Given the description of an element on the screen output the (x, y) to click on. 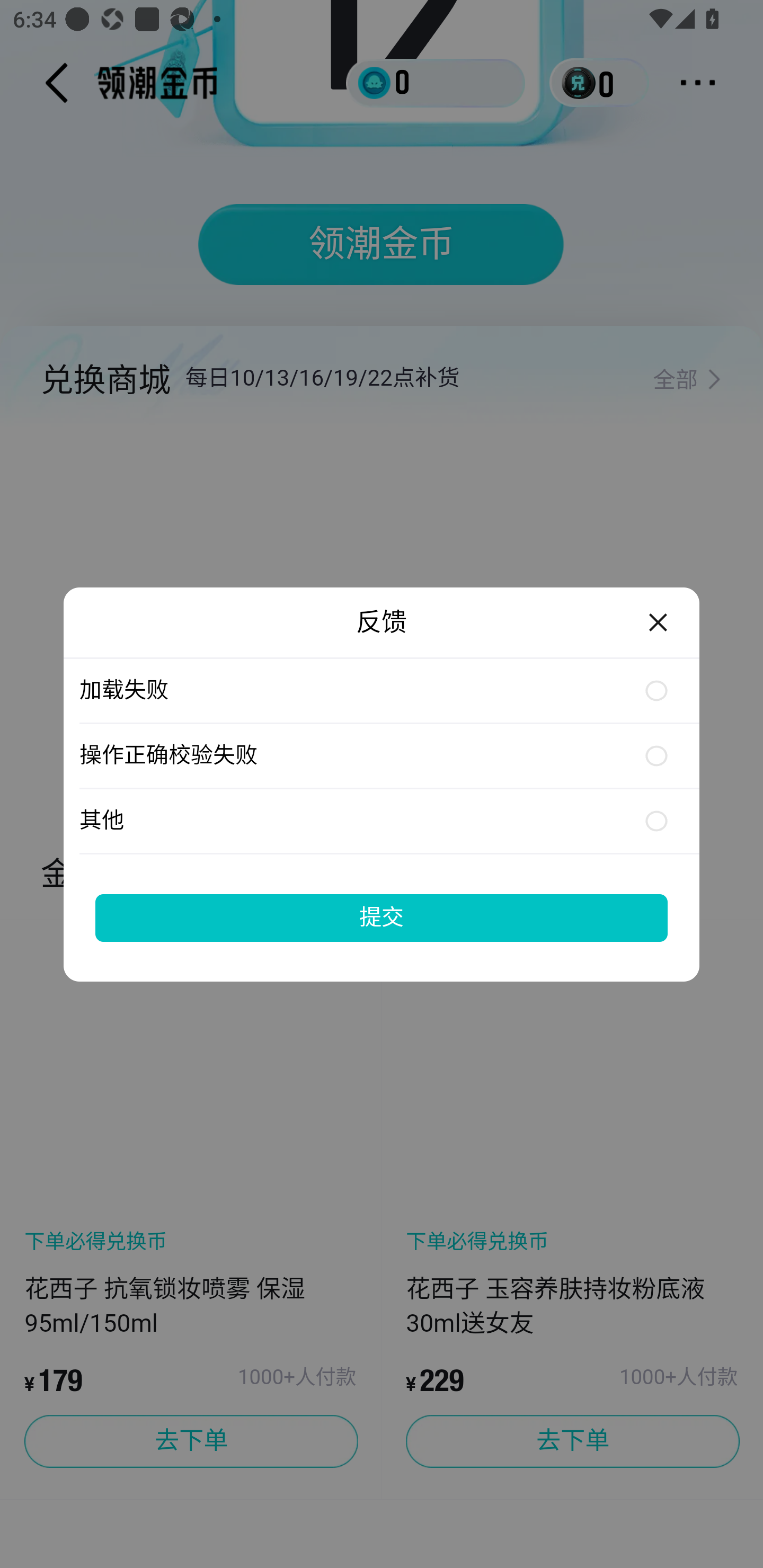
提交 (381, 917)
